Given the description of an element on the screen output the (x, y) to click on. 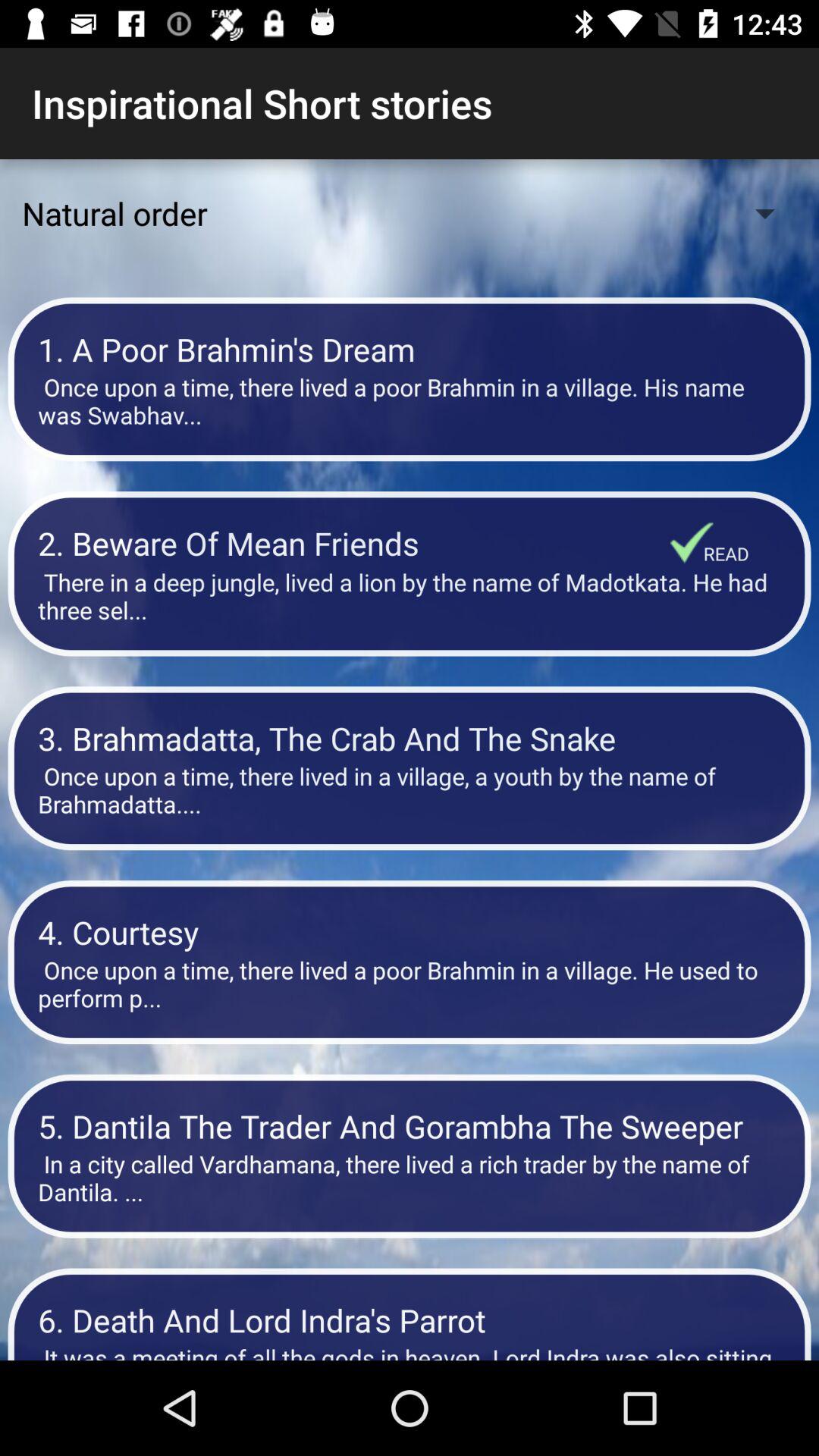
turn on the 5 dantila the icon (409, 1125)
